Given the description of an element on the screen output the (x, y) to click on. 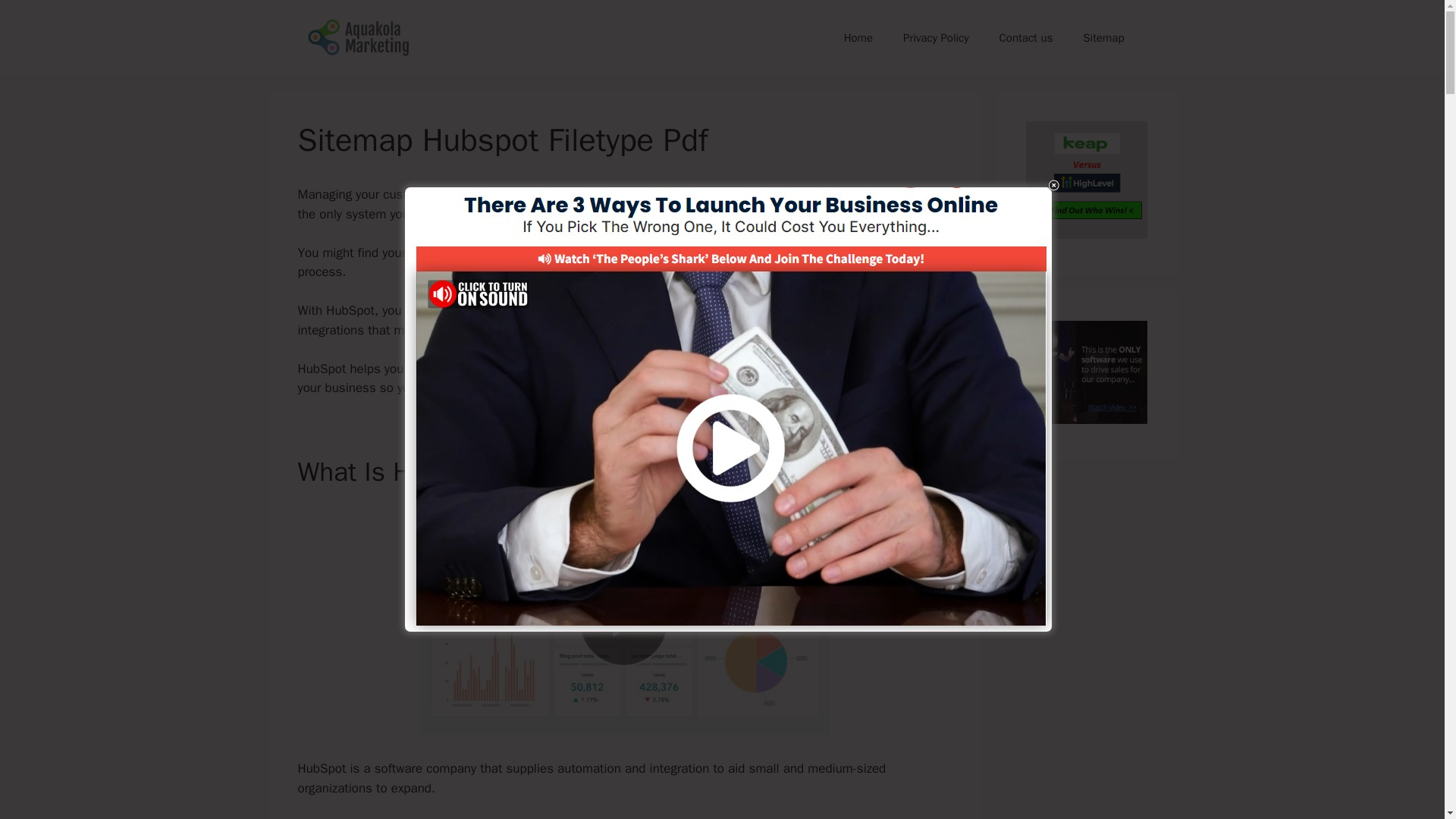
Contact us (1026, 37)
Sitemap (1102, 37)
Home (858, 37)
Privacy Policy (936, 37)
